Given the description of an element on the screen output the (x, y) to click on. 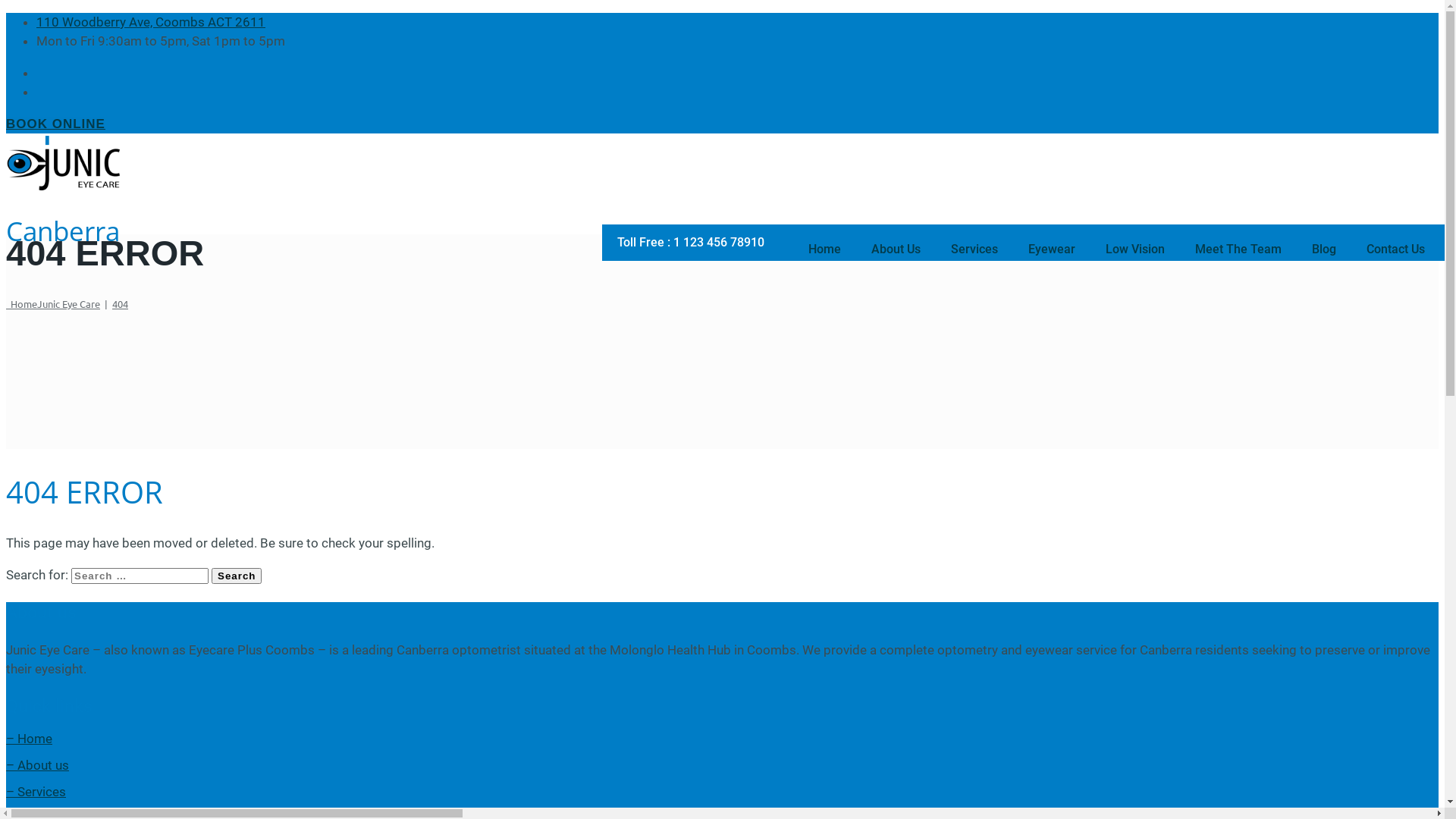
Low Vision Element type: text (1135, 249)
404 Element type: text (120, 303)
Meet The Team Element type: text (1238, 249)
Contact Us Element type: text (1395, 249)
Services Element type: text (974, 249)
Blog Element type: text (1323, 249)
BOOK ONLINE Element type: text (55, 123)
Home Element type: text (824, 249)
Junic Eye Care Element type: hover (722, 163)
About Us Element type: text (895, 249)
Eyewear Element type: text (1051, 249)
  HomeJunic Eye Care Element type: text (53, 303)
110 Woodberry Ave, Coombs ACT 2611 Element type: text (150, 21)
Search Element type: text (236, 575)
